Given the description of an element on the screen output the (x, y) to click on. 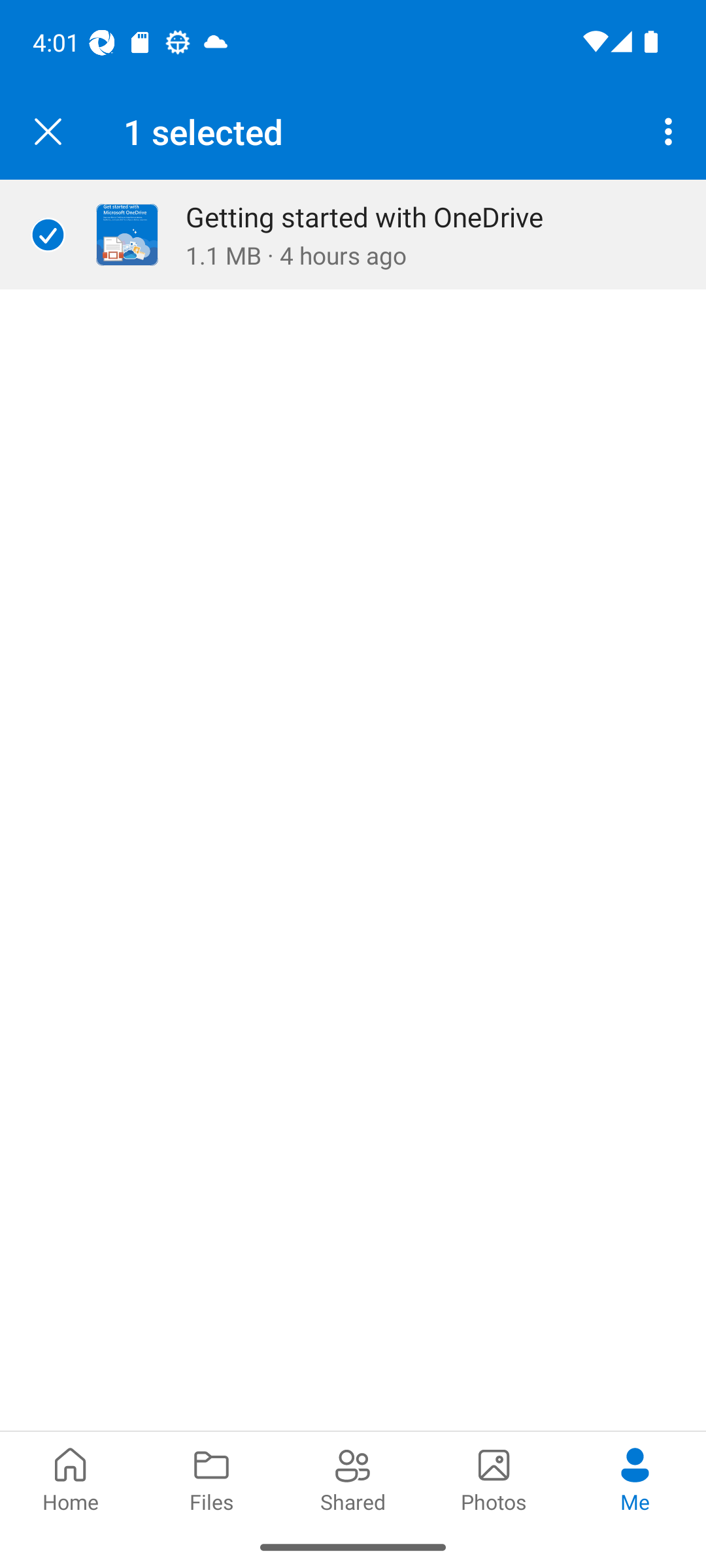
Done (48, 131)
More options (671, 131)
Tap to select item (48, 234)
Home pivot Home (70, 1478)
Files pivot Files (211, 1478)
Shared pivot Shared (352, 1478)
Photos pivot Photos (493, 1478)
